Given the description of an element on the screen output the (x, y) to click on. 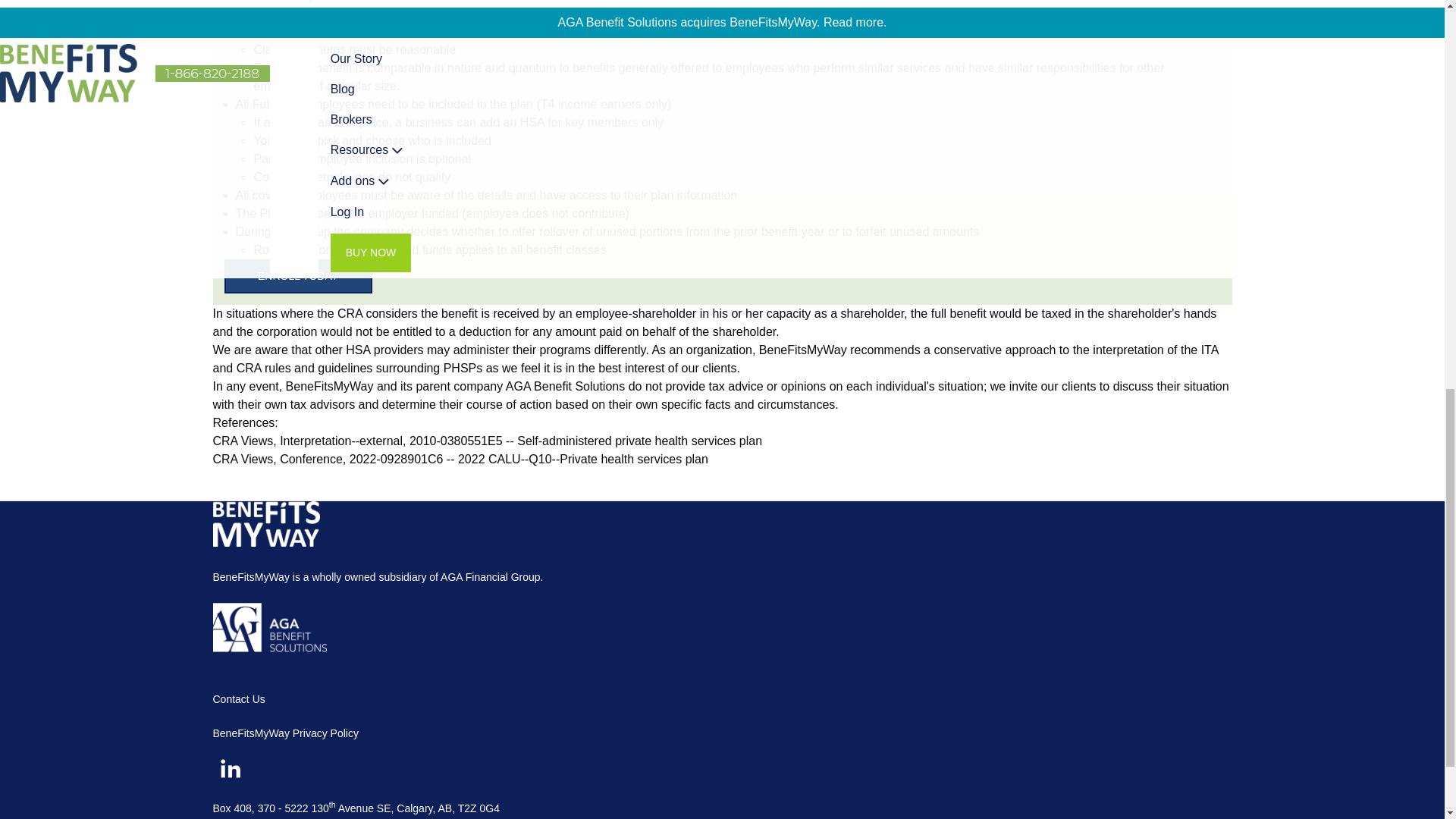
ENROLL TODAY (298, 276)
BeneFitsMyWay Privacy Policy (285, 733)
Contact Us (238, 698)
